Given the description of an element on the screen output the (x, y) to click on. 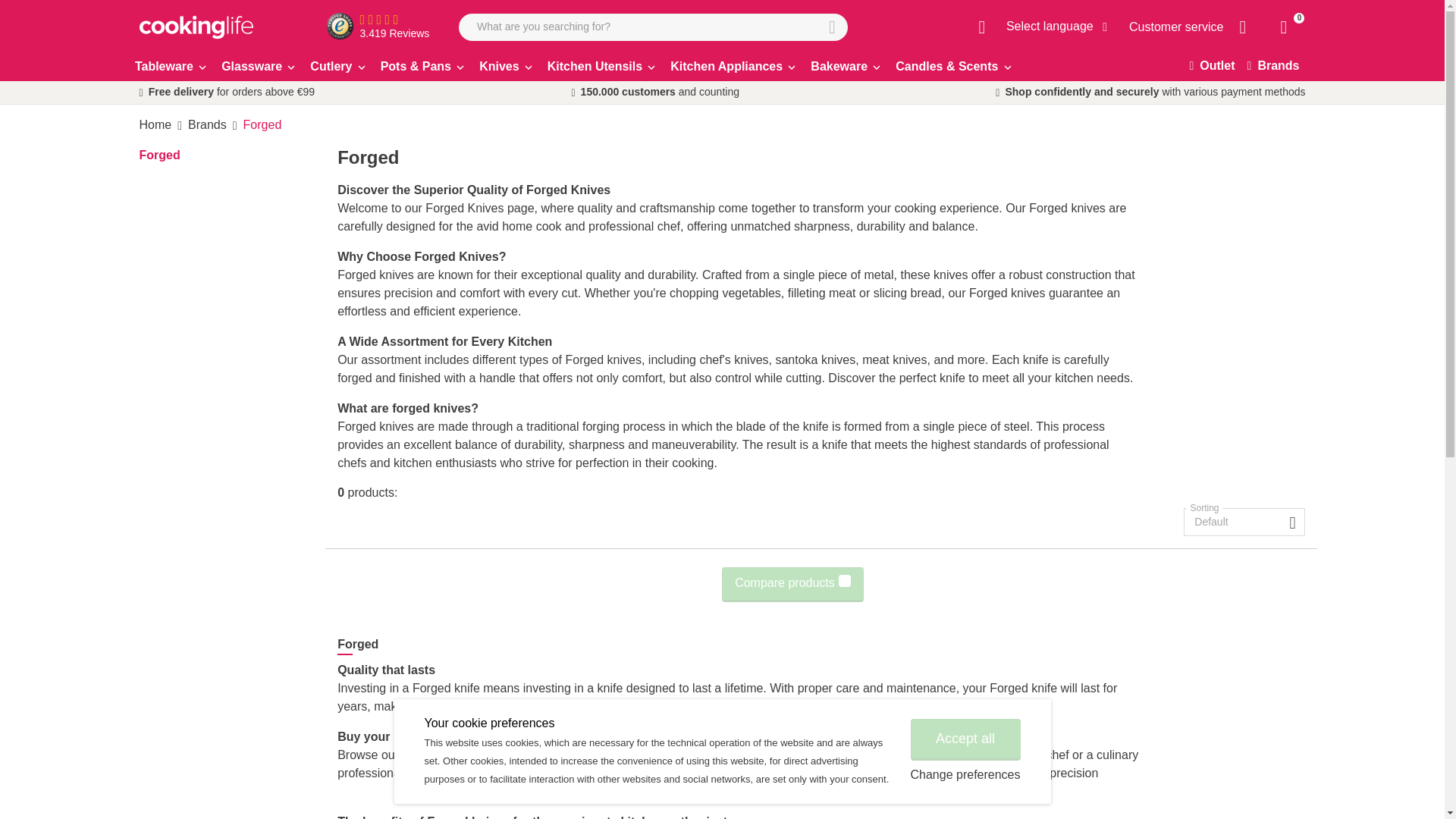
3.419 Reviews (343, 26)
Customer service (1176, 27)
Tableware (173, 67)
0 (1286, 27)
